Given the description of an element on the screen output the (x, y) to click on. 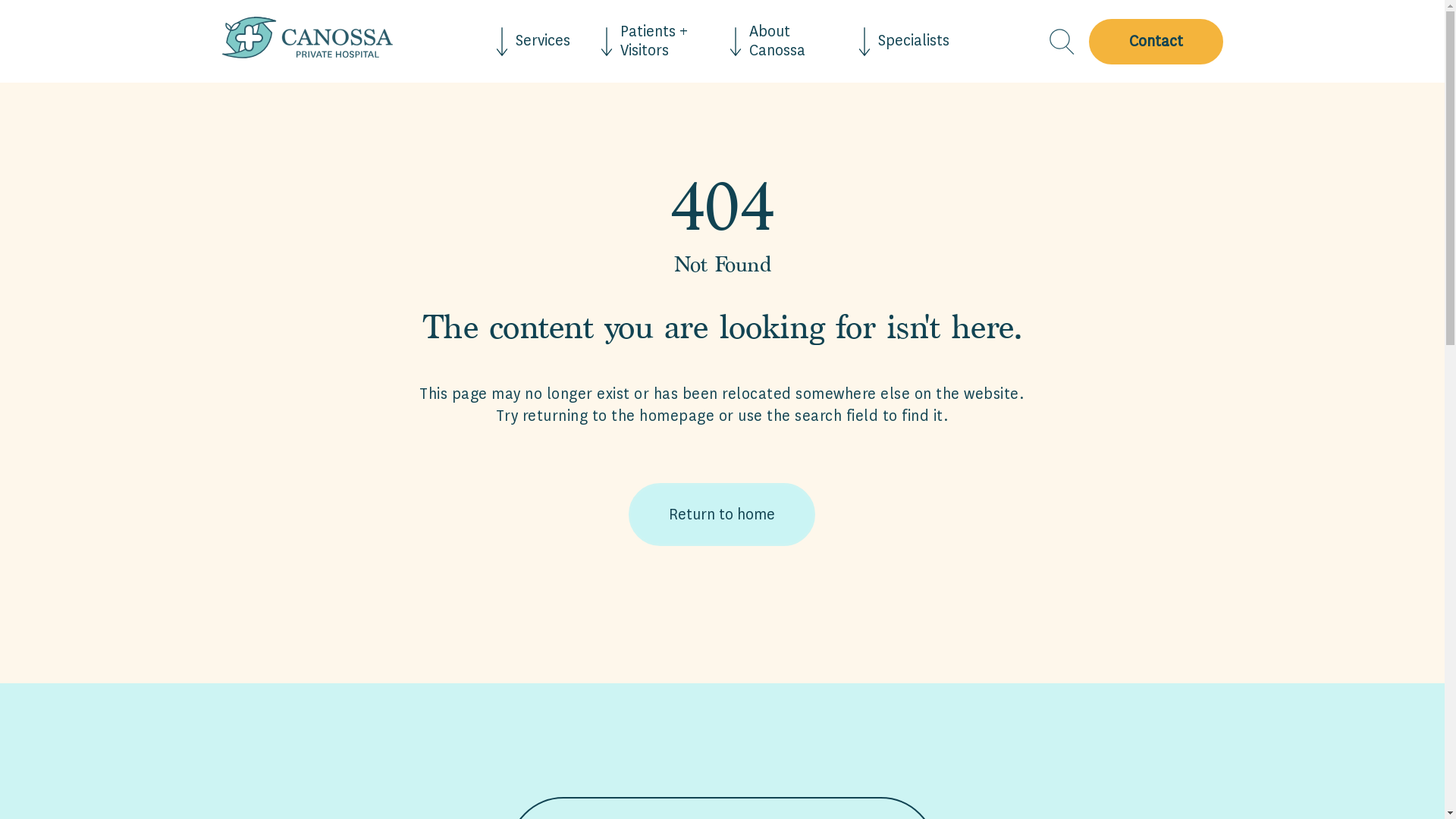
Return to home Element type: text (721, 514)
About Canossa Element type: text (778, 41)
Services Element type: text (532, 41)
Contact Element type: text (1151, 41)
Patients + Visitors Element type: text (649, 41)
Specialists Element type: text (903, 41)
